Given the description of an element on the screen output the (x, y) to click on. 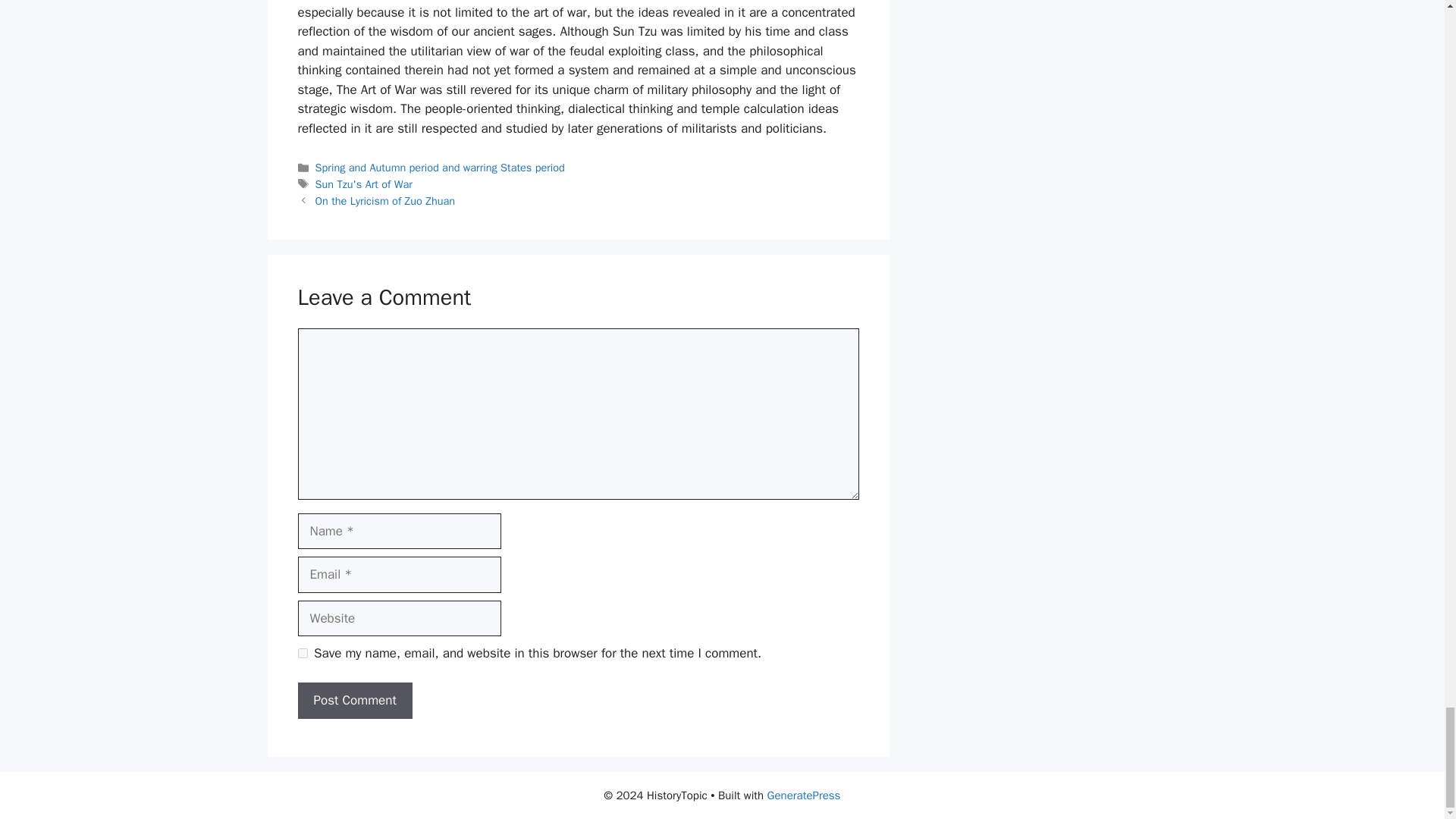
Post Comment (354, 700)
Spring and Autumn period and warring States period (439, 167)
yes (302, 653)
On the Lyricism of Zuo Zhuan (385, 201)
Post Comment (354, 700)
Sun Tzu's Art of War (363, 183)
GeneratePress (804, 795)
